Given the description of an element on the screen output the (x, y) to click on. 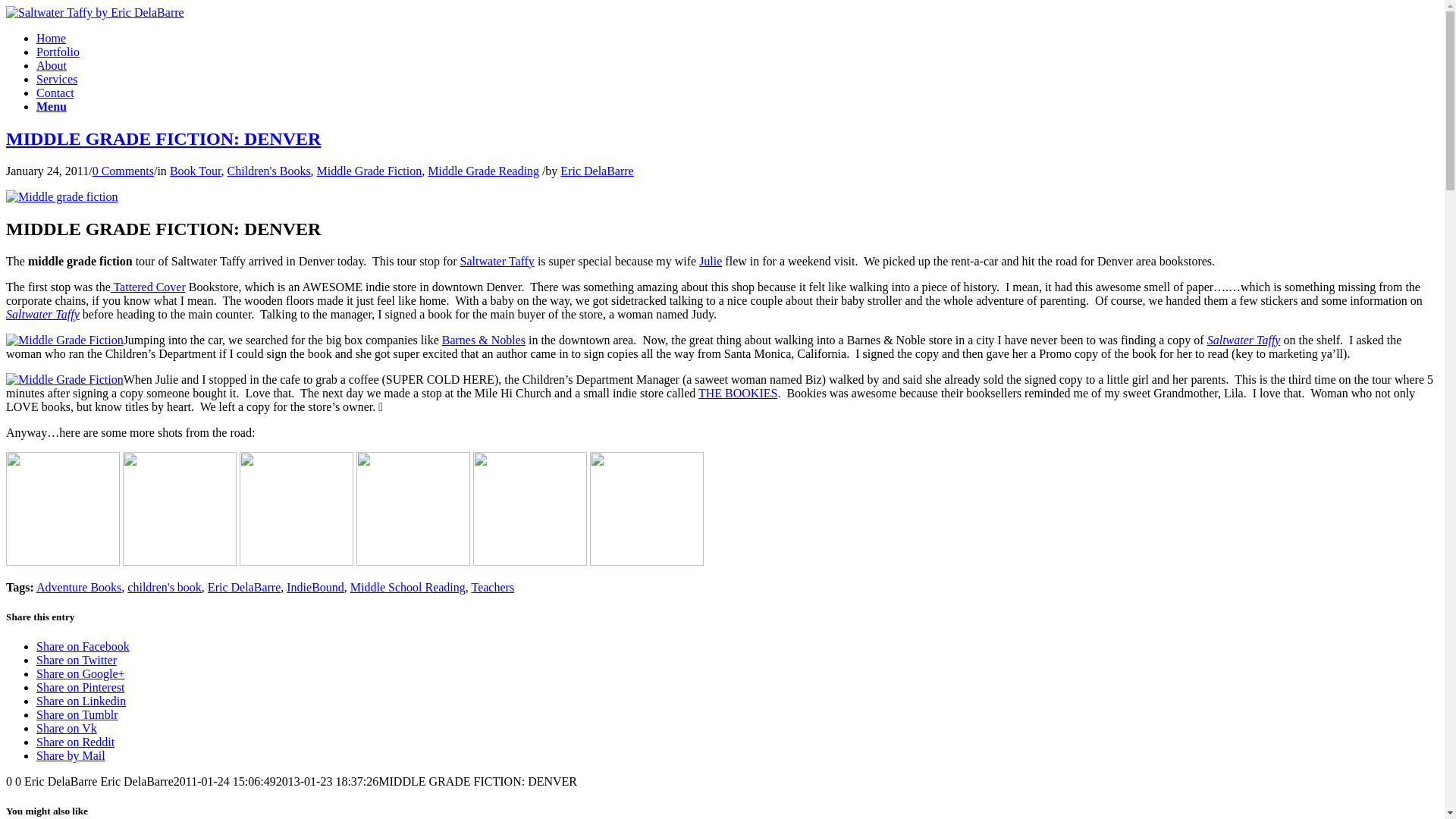
Home (50, 38)
Middle Grade Fiction (369, 170)
Menu (51, 106)
Denver Bookseller (646, 508)
Book Tour (195, 170)
IndieBound (314, 586)
Middle Grade Reading (483, 170)
Teachers (493, 586)
Middle School Reading (407, 586)
Eric DelaBarre (244, 586)
